Given the description of an element on the screen output the (x, y) to click on. 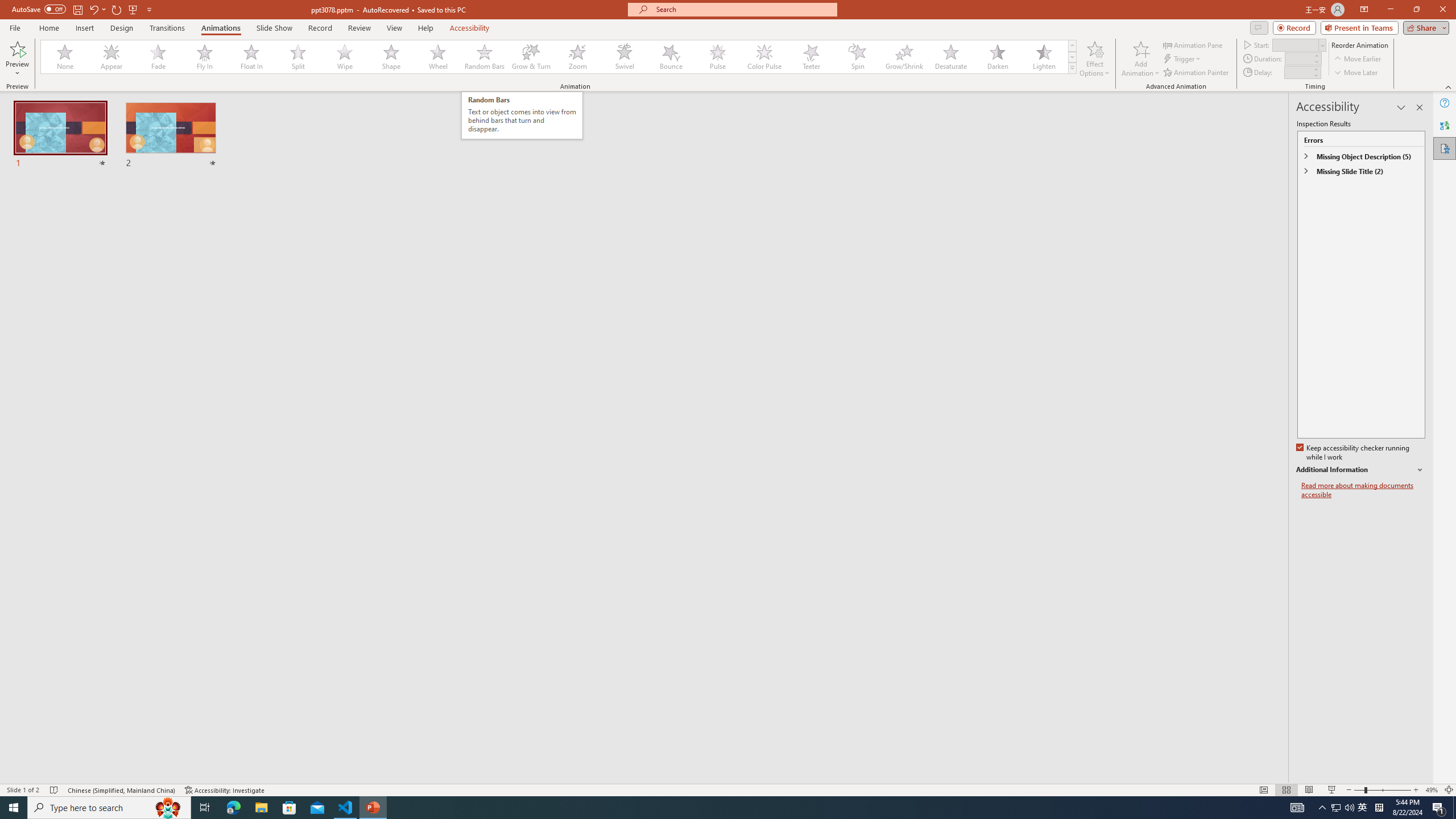
Fade (158, 56)
None (65, 56)
